Given the description of an element on the screen output the (x, y) to click on. 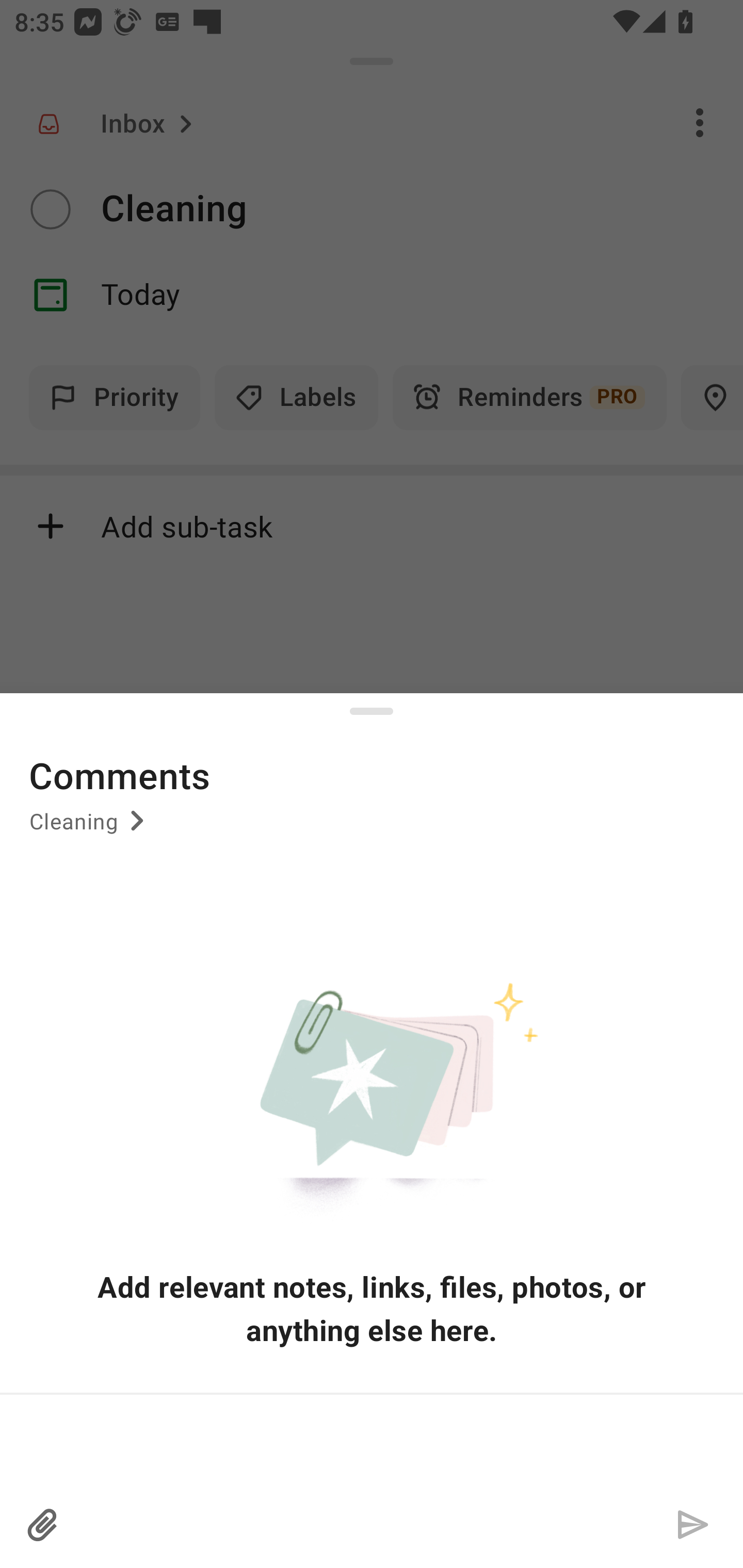
Cleaning (89, 828)
Attachment (43, 1524)
Submit (692, 1524)
